Given the description of an element on the screen output the (x, y) to click on. 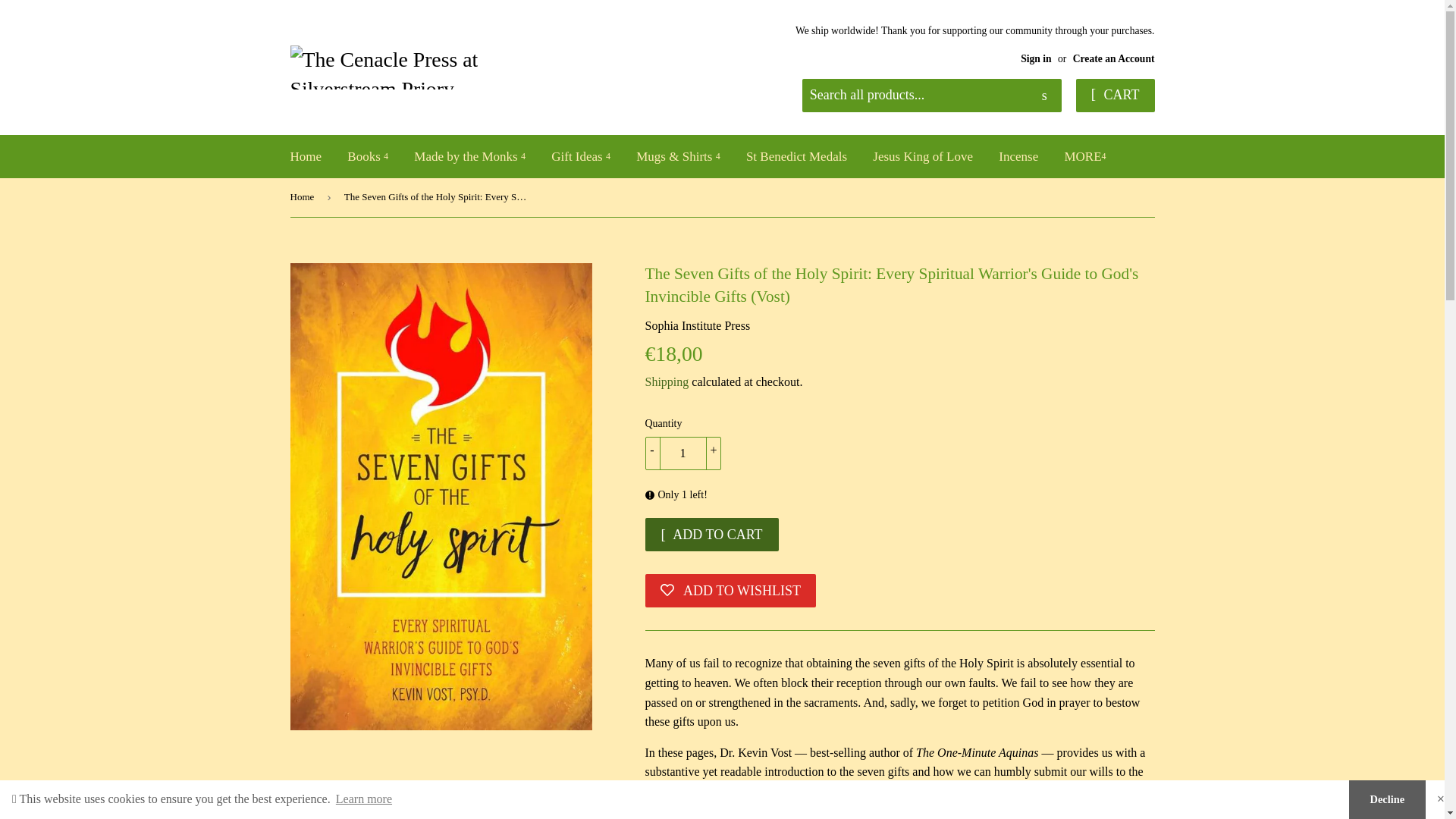
Decline (1387, 799)
CART (1114, 95)
Create an Account (1113, 58)
Sign in (1035, 58)
Learn more (363, 798)
1 (682, 453)
Search (1044, 96)
